Given the description of an element on the screen output the (x, y) to click on. 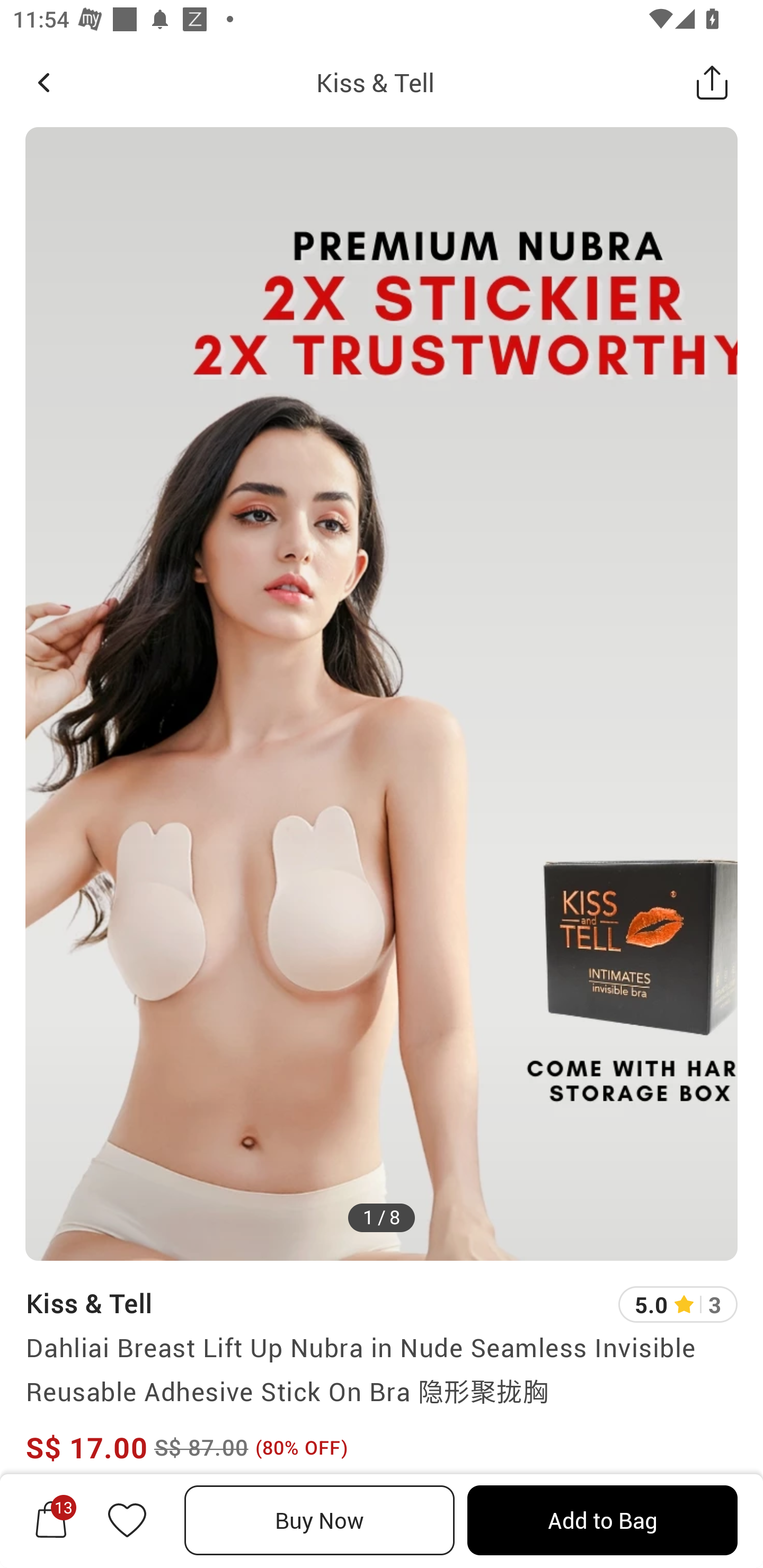
Kiss & Tell (375, 82)
Share this Product (711, 82)
Kiss & Tell (88, 1302)
5.0 3 (677, 1304)
Buy Now (319, 1519)
Add to Bag (601, 1519)
13 (50, 1520)
